Given the description of an element on the screen output the (x, y) to click on. 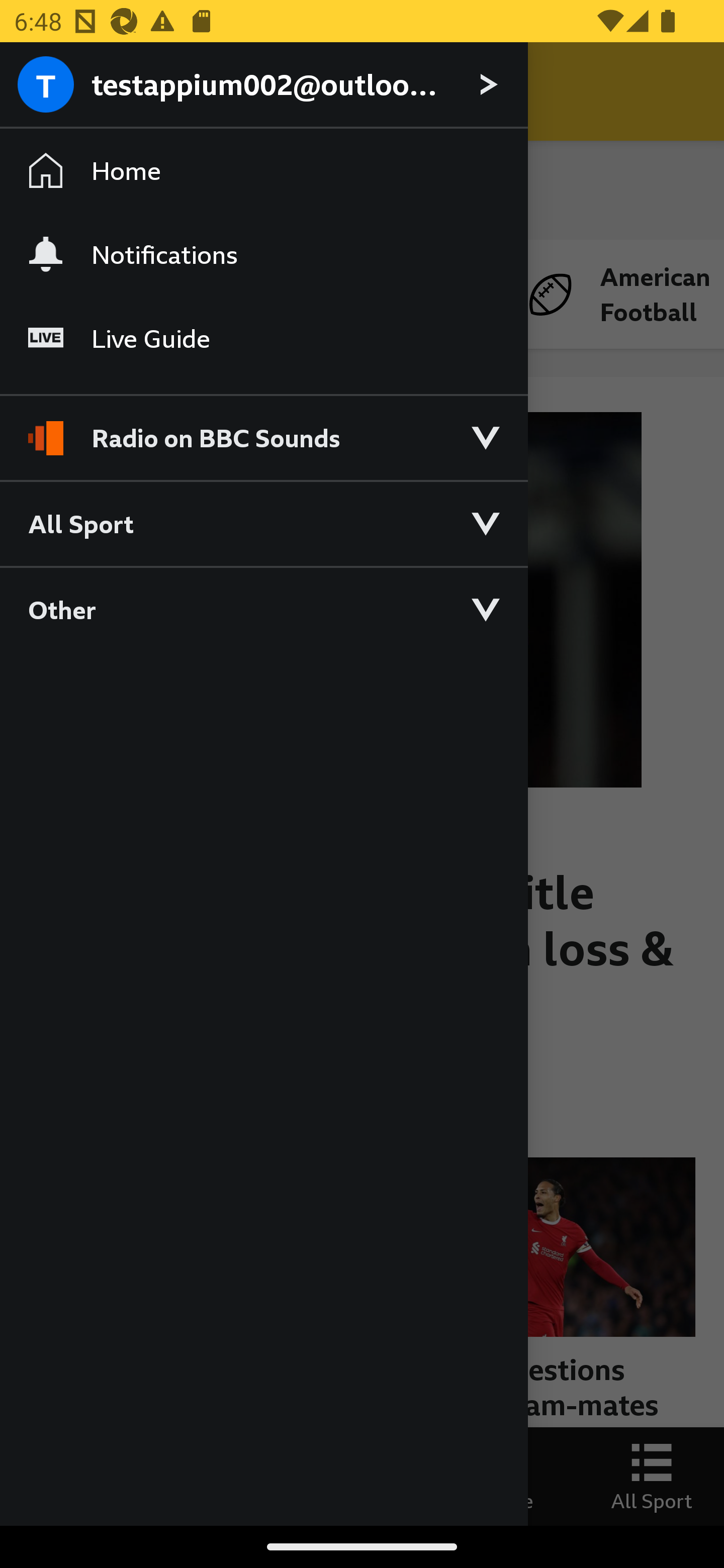
testappium002@outlook.com (263, 85)
Home (263, 170)
Notifications (263, 253)
Live Guide (263, 338)
Radio on BBC Sounds (263, 429)
All Sport (263, 522)
Other (263, 609)
